Given the description of an element on the screen output the (x, y) to click on. 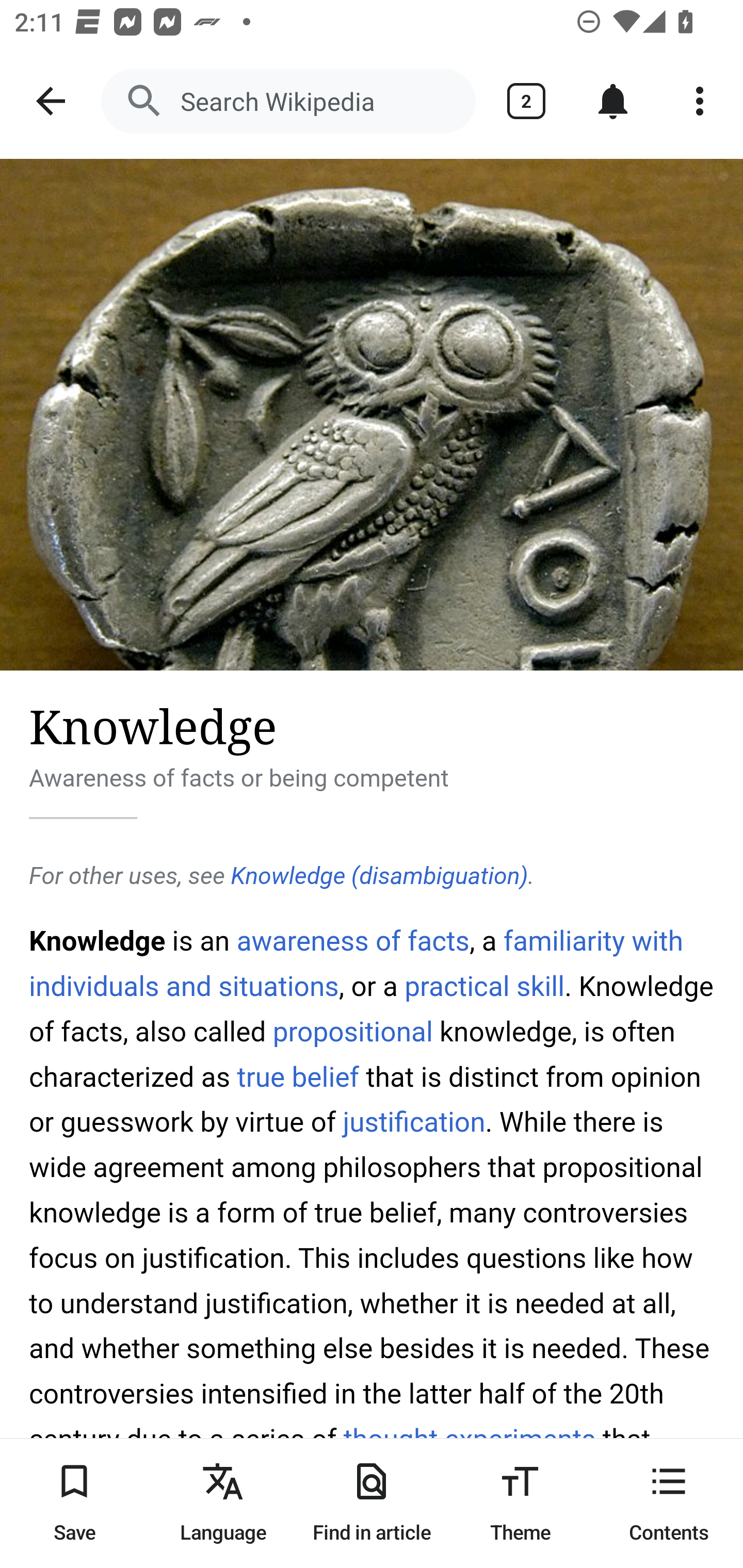
Show tabs 2 (525, 100)
Notifications (612, 100)
Navigate up (50, 101)
More options (699, 101)
Search Wikipedia (288, 100)
Image: Knowledge (371, 414)
Knowledge (disambiguation) (378, 876)
familiarity with individuals and situations (356, 963)
awareness of facts (352, 940)
practical skill (484, 986)
propositional (352, 1031)
true (260, 1076)
belief (325, 1076)
justification (413, 1121)
Save (74, 1502)
Language (222, 1502)
Find in article (371, 1502)
Theme (519, 1502)
Contents (668, 1502)
